Given the description of an element on the screen output the (x, y) to click on. 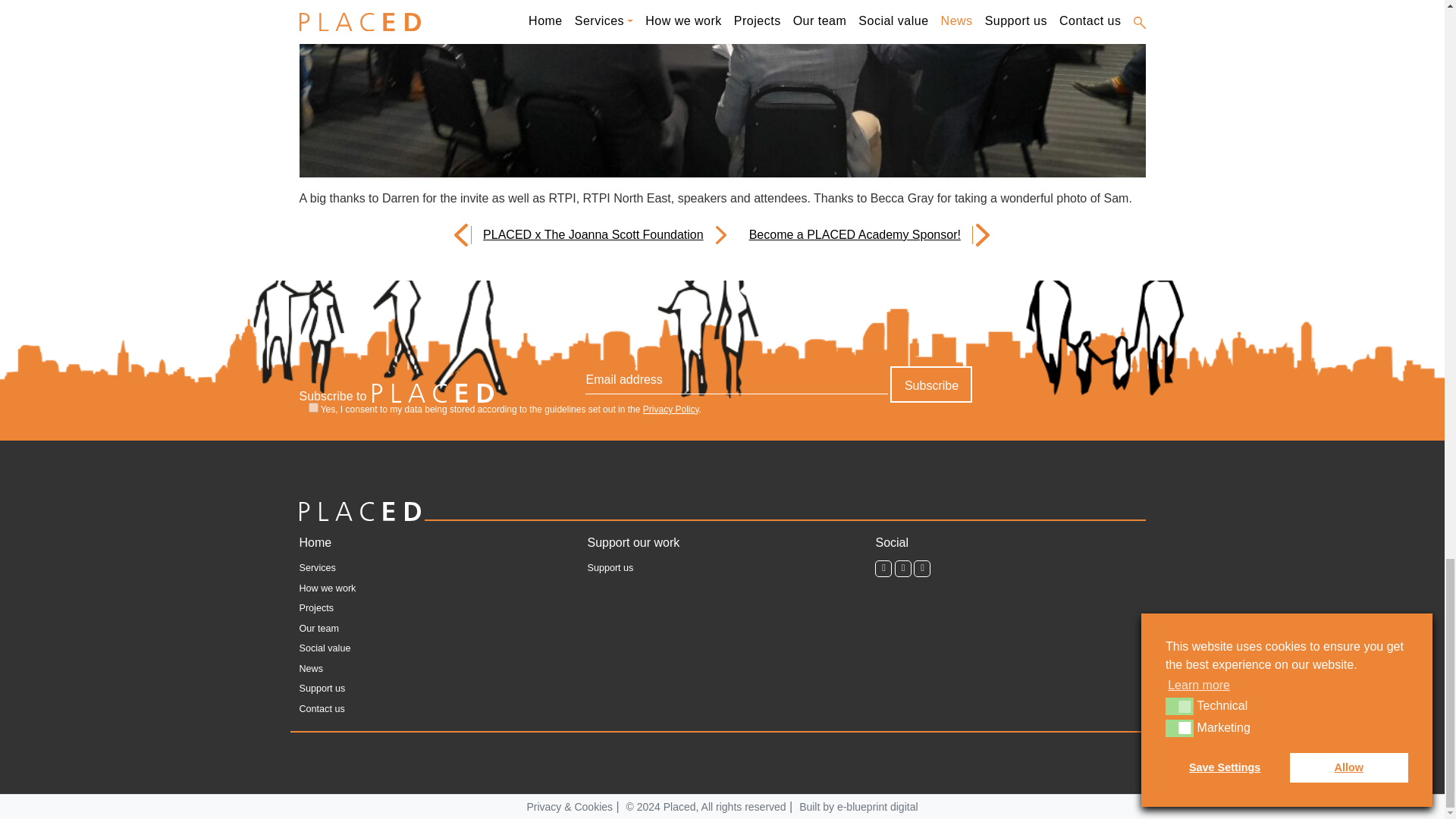
Projects (315, 609)
News (310, 669)
Contact us (320, 710)
Built by e-blueprint digital (858, 806)
PLACED x The Joanna Scott Foundation (598, 235)
1 (312, 407)
Become a PLACED Academy Sponsor! (849, 235)
Subscribe (930, 384)
Support us (321, 689)
Subscribe (930, 384)
Our team (318, 628)
How we work (326, 588)
Privacy Policy (670, 409)
Services (316, 569)
Support us (609, 569)
